Given the description of an element on the screen output the (x, y) to click on. 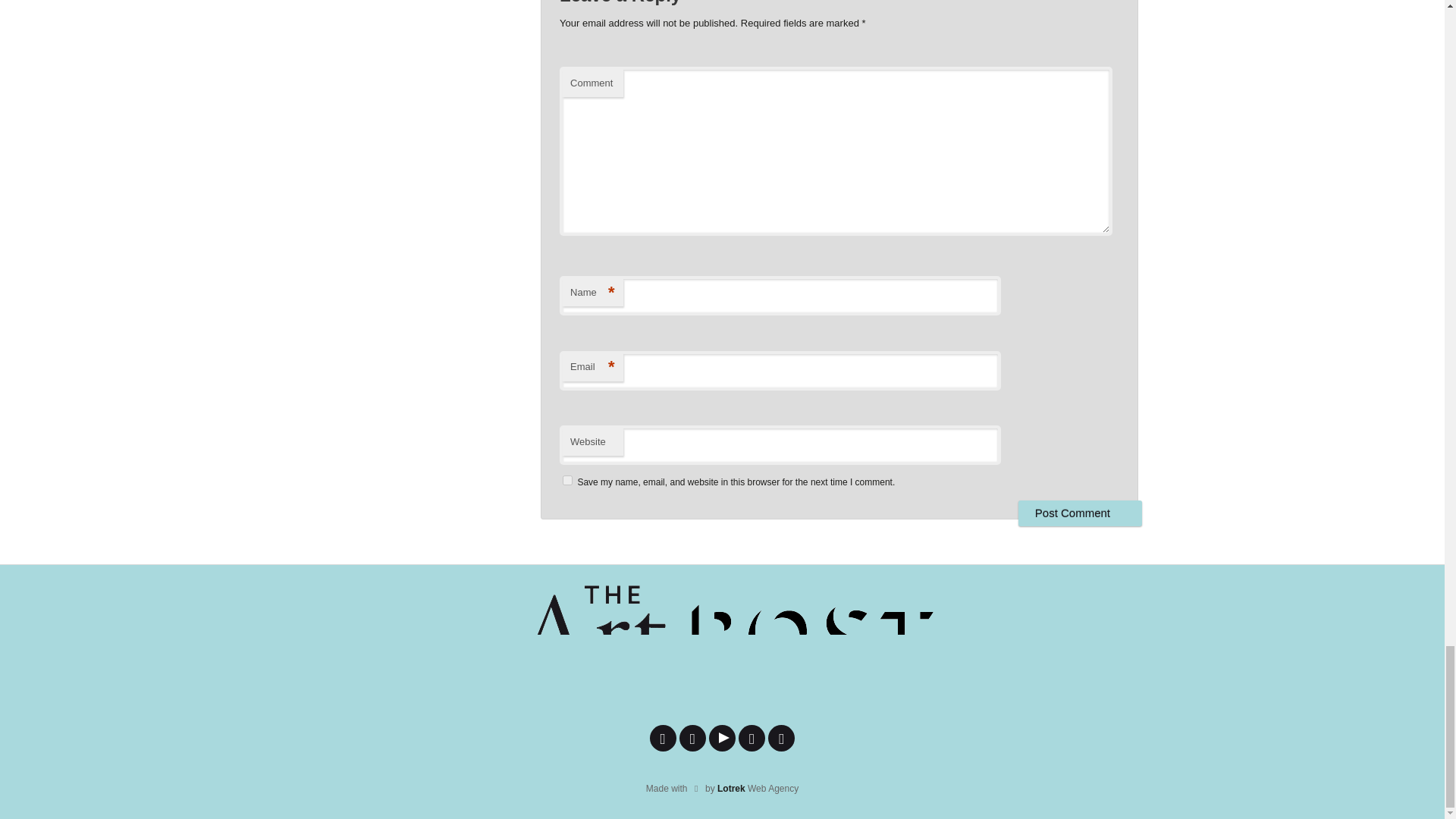
Lotrek (731, 787)
Post Comment (1079, 513)
Post Comment (1079, 513)
The Art Post Blog (721, 646)
yes (567, 480)
Lotrek (731, 787)
